Given the description of an element on the screen output the (x, y) to click on. 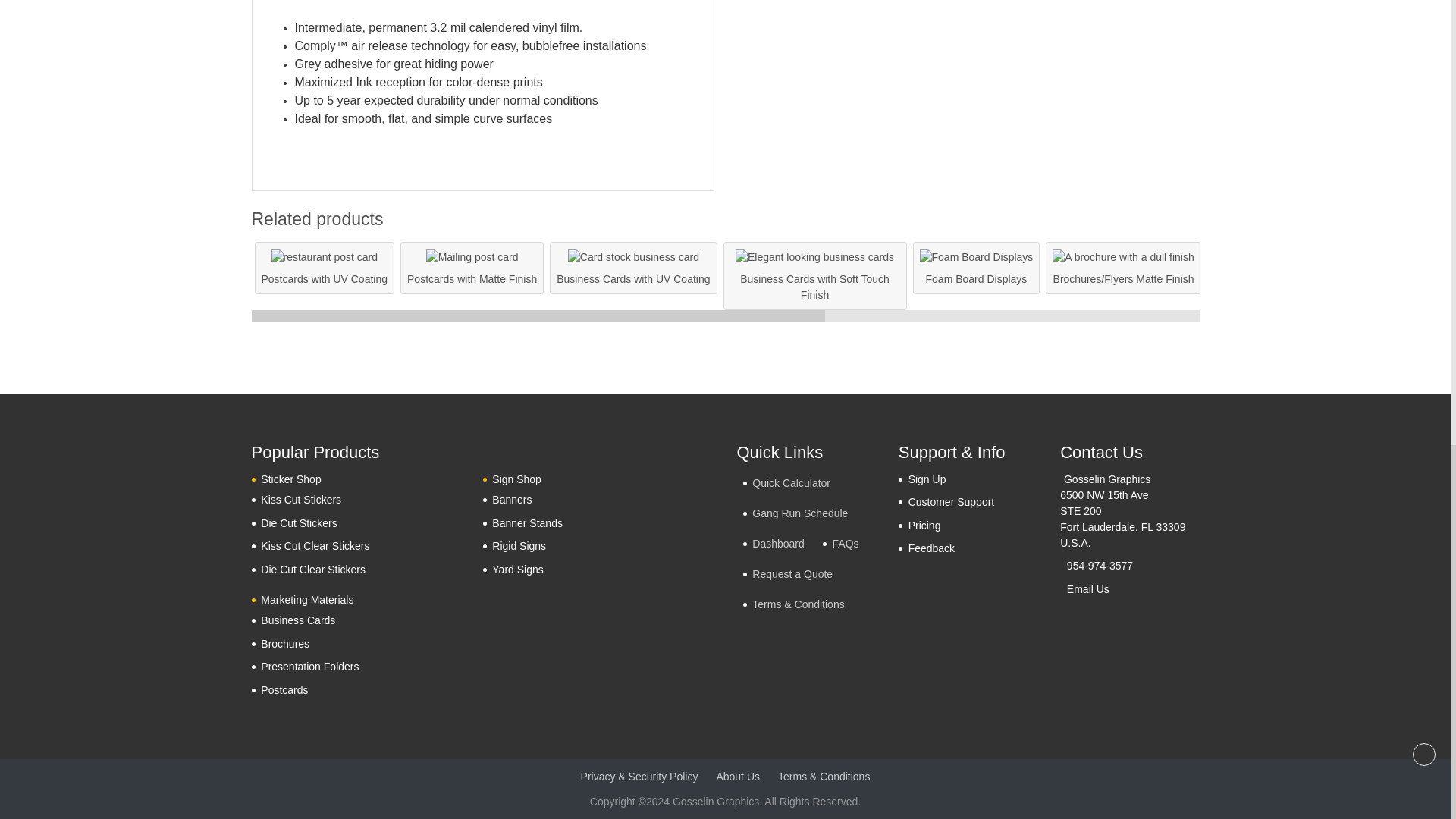
Foam Board Displays (976, 257)
Postcards with Matte Finish (472, 257)
Customer Support (946, 502)
Business Cards with UV Coating (632, 257)
Business Cards with Soft Touch Finish (814, 257)
Sign Up (922, 479)
Pricing (919, 525)
Feedback (926, 548)
Postcards with UV Coating (324, 257)
